Given the description of an element on the screen output the (x, y) to click on. 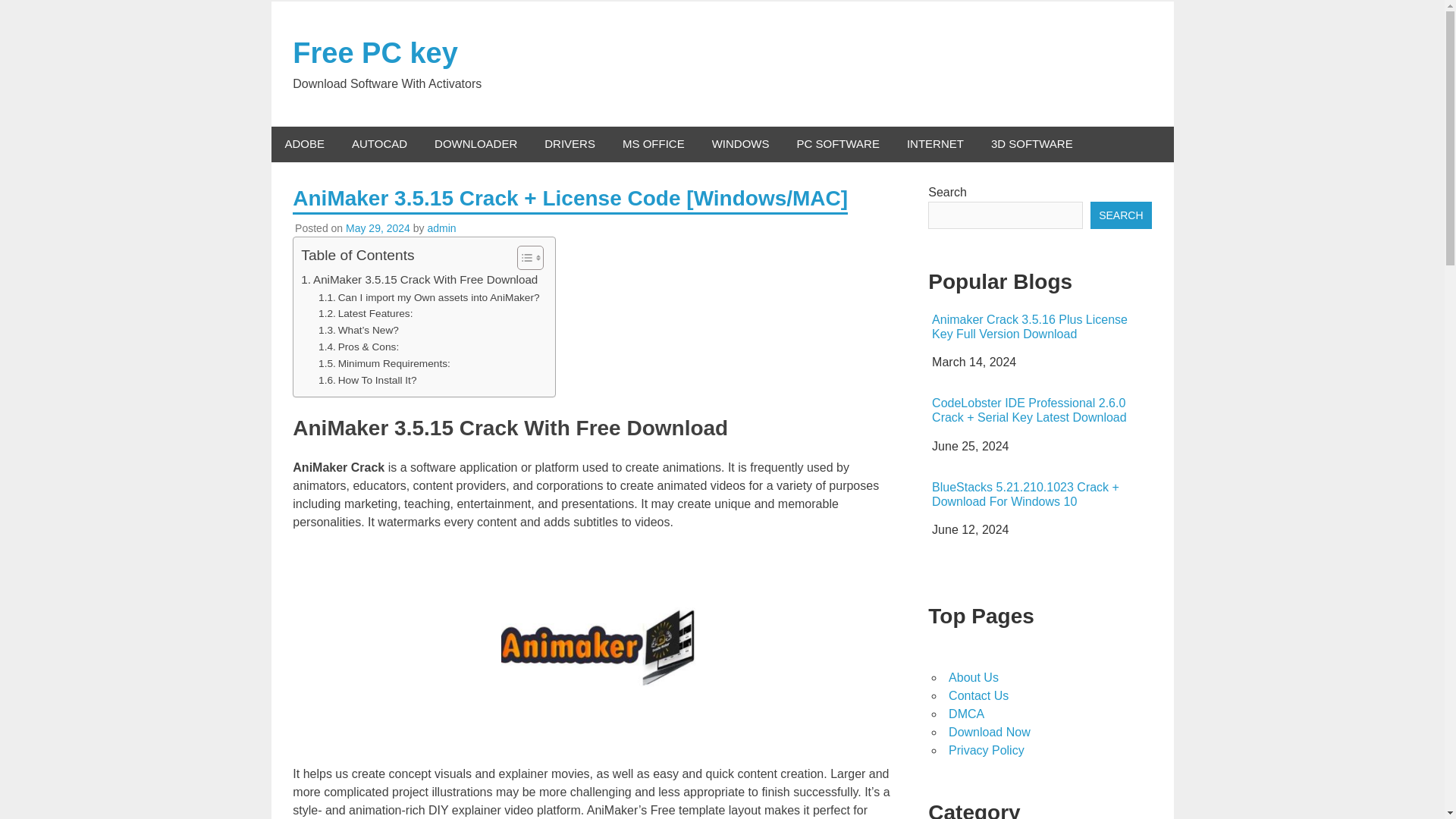
About Us (973, 676)
ADOBE (304, 144)
admin (440, 227)
Contact Us (979, 695)
Latest Features: (365, 313)
How To Install It? (367, 380)
Minimum Requirements: (383, 363)
DMCA (966, 713)
Can I import my Own assets into AniMaker? (429, 297)
AniMaker 3.5.15 Crack With Free Download (419, 280)
